Given the description of an element on the screen output the (x, y) to click on. 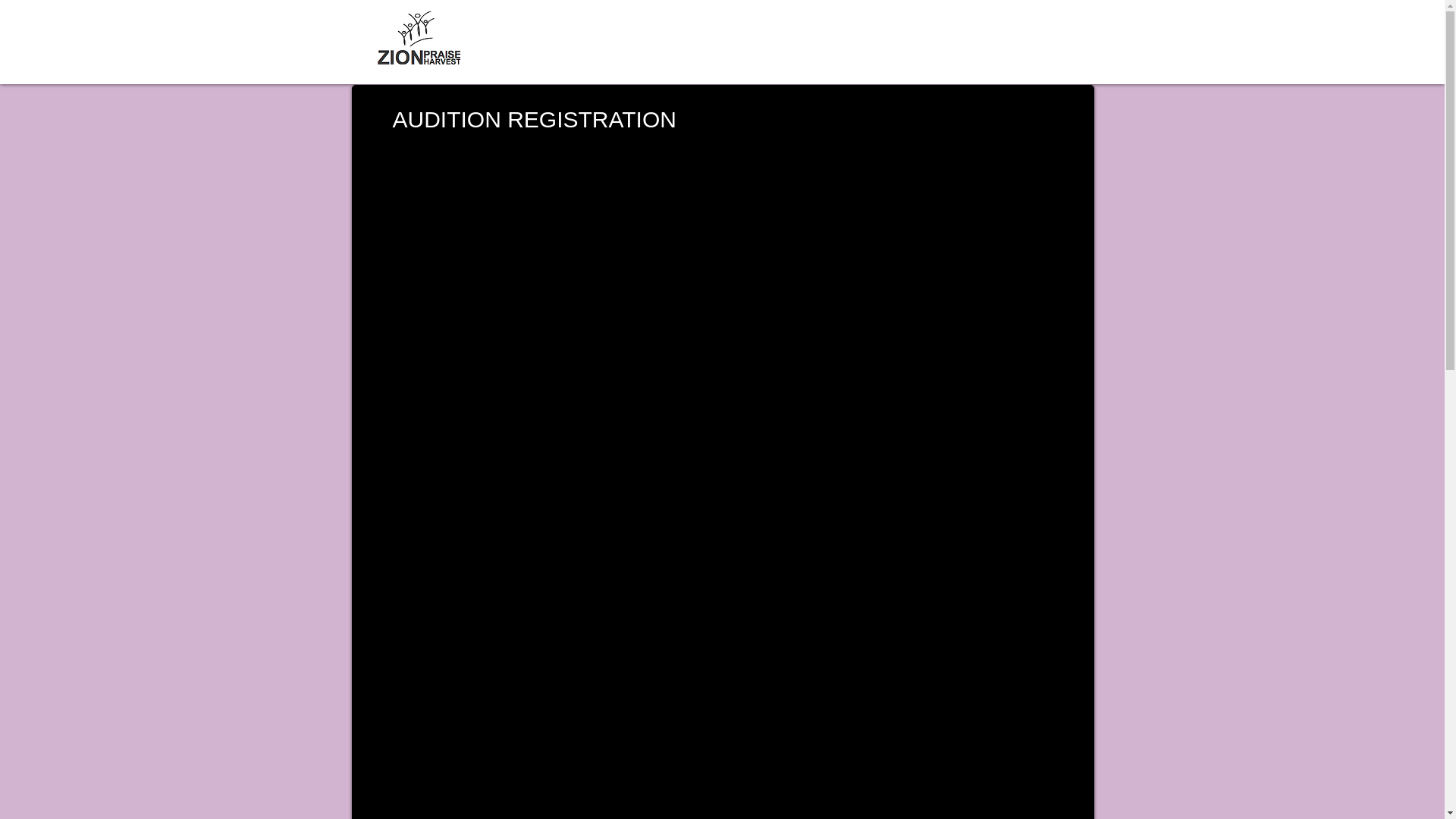
ZphLlogo_PNG.png Element type: hover (418, 37)
